Given the description of an element on the screen output the (x, y) to click on. 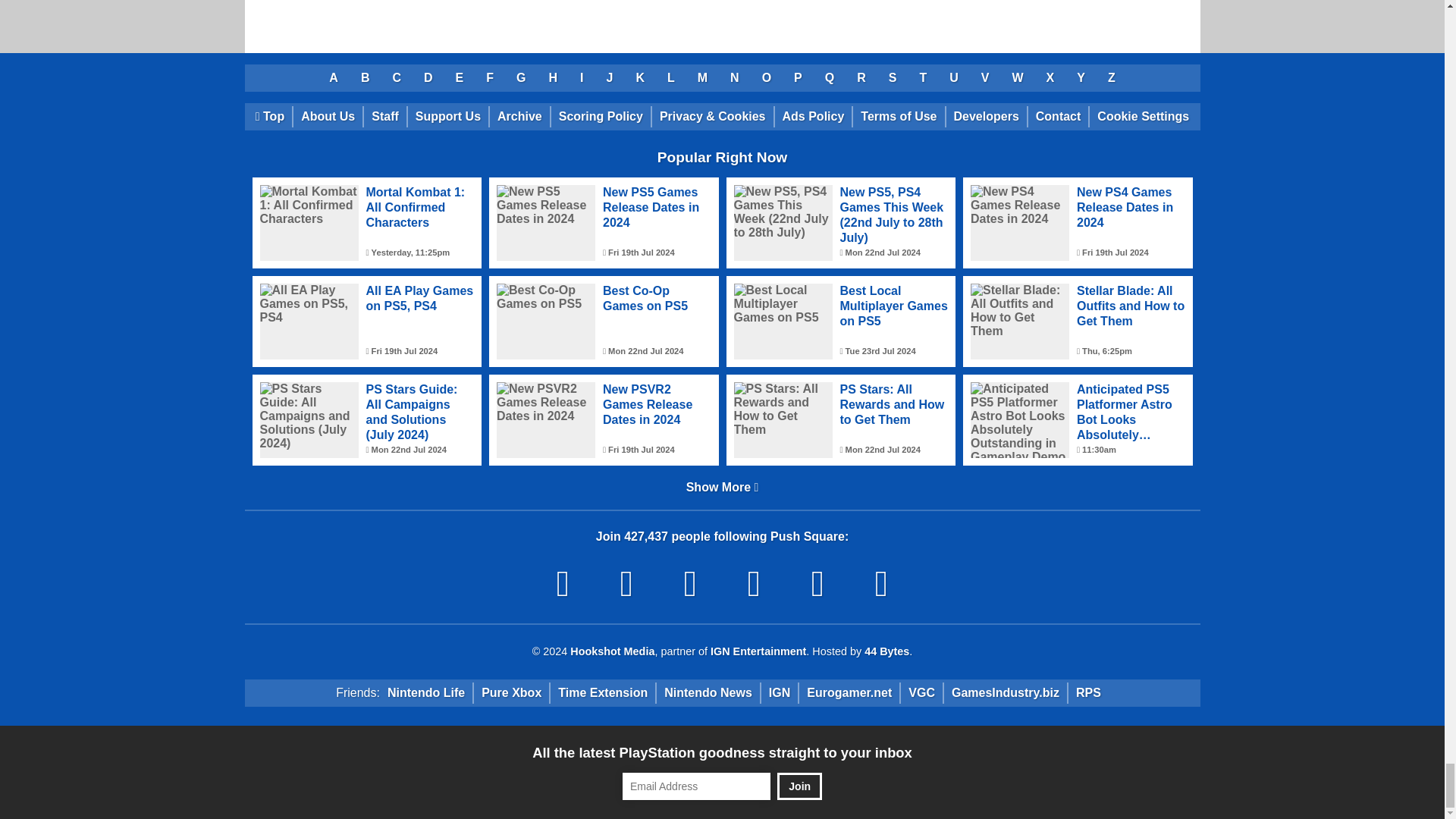
Join (799, 786)
